Given the description of an element on the screen output the (x, y) to click on. 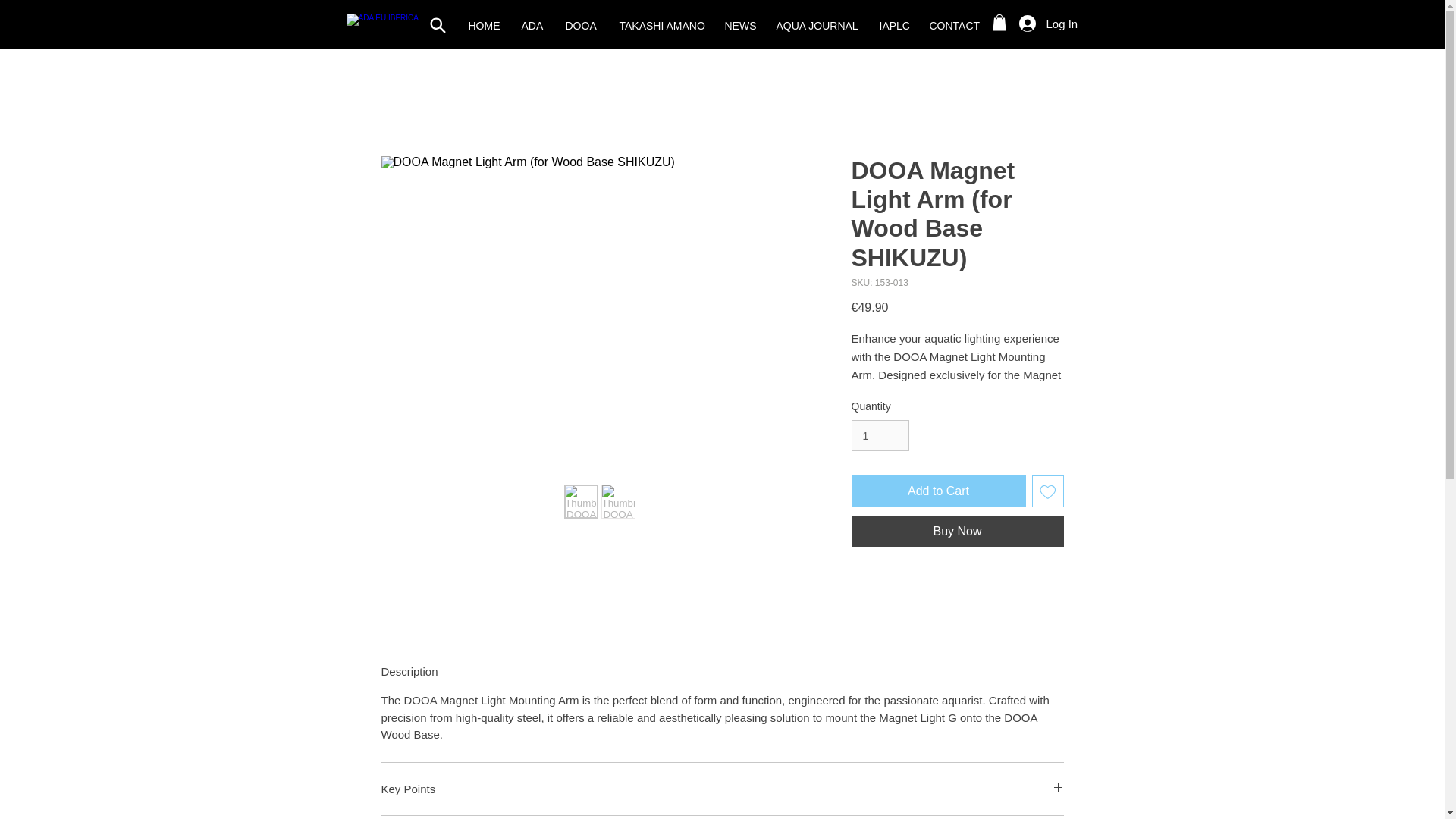
IAPLC (892, 25)
Add to Cart (937, 490)
1 (879, 435)
Buy Now (956, 531)
TAKASHI AMANO (660, 25)
Description (721, 671)
Log In (1025, 23)
HOME (483, 25)
DOOA (580, 25)
NEWS (738, 25)
